Given the description of an element on the screen output the (x, y) to click on. 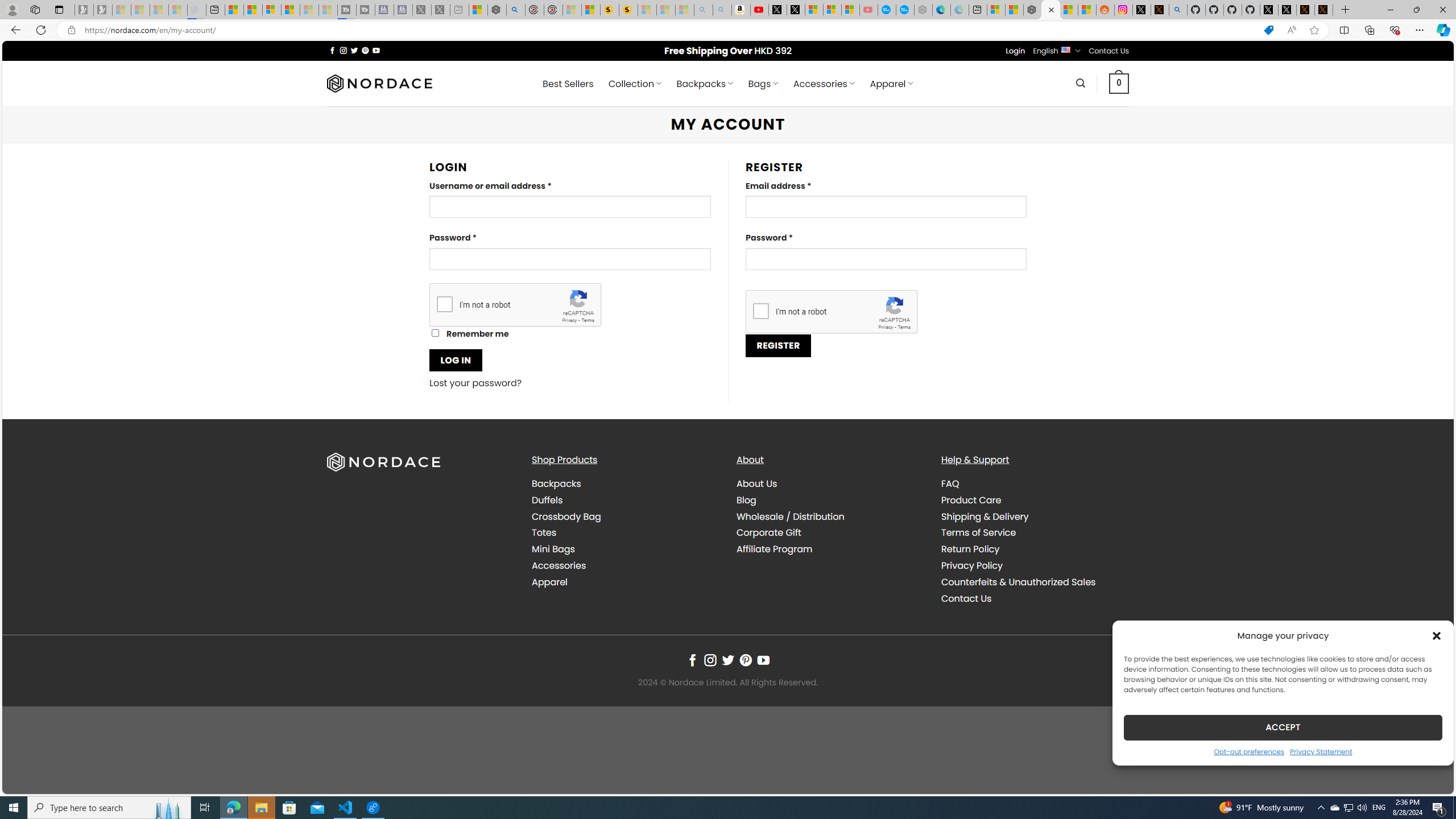
Newsletter Sign Up - Sleeping (102, 9)
Privacy Policy (1034, 565)
Mini Bags (625, 549)
Duffels (625, 499)
Privacy Statement (1321, 750)
Return Policy (970, 549)
Terms (903, 326)
Log in to X / X (1142, 9)
